Given the description of an element on the screen output the (x, y) to click on. 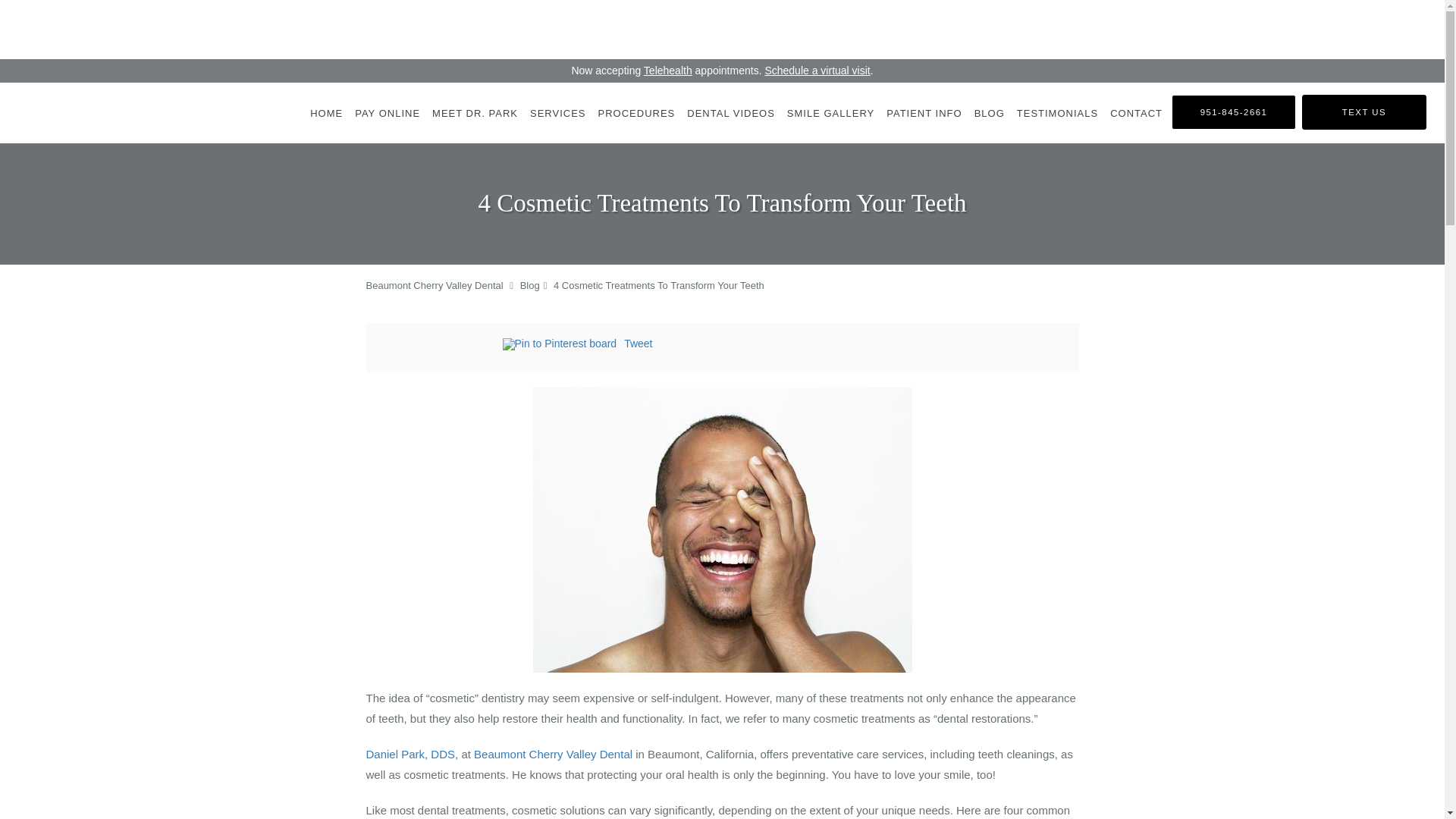
PAY ONLINE (387, 112)
Facebook social button (441, 345)
PROCEDURES (636, 112)
Schedule a virtual visit (816, 70)
Skip to main content (74, 89)
SERVICES (558, 112)
Telehealth (668, 70)
MEET DR. PARK (475, 112)
